Given the description of an element on the screen output the (x, y) to click on. 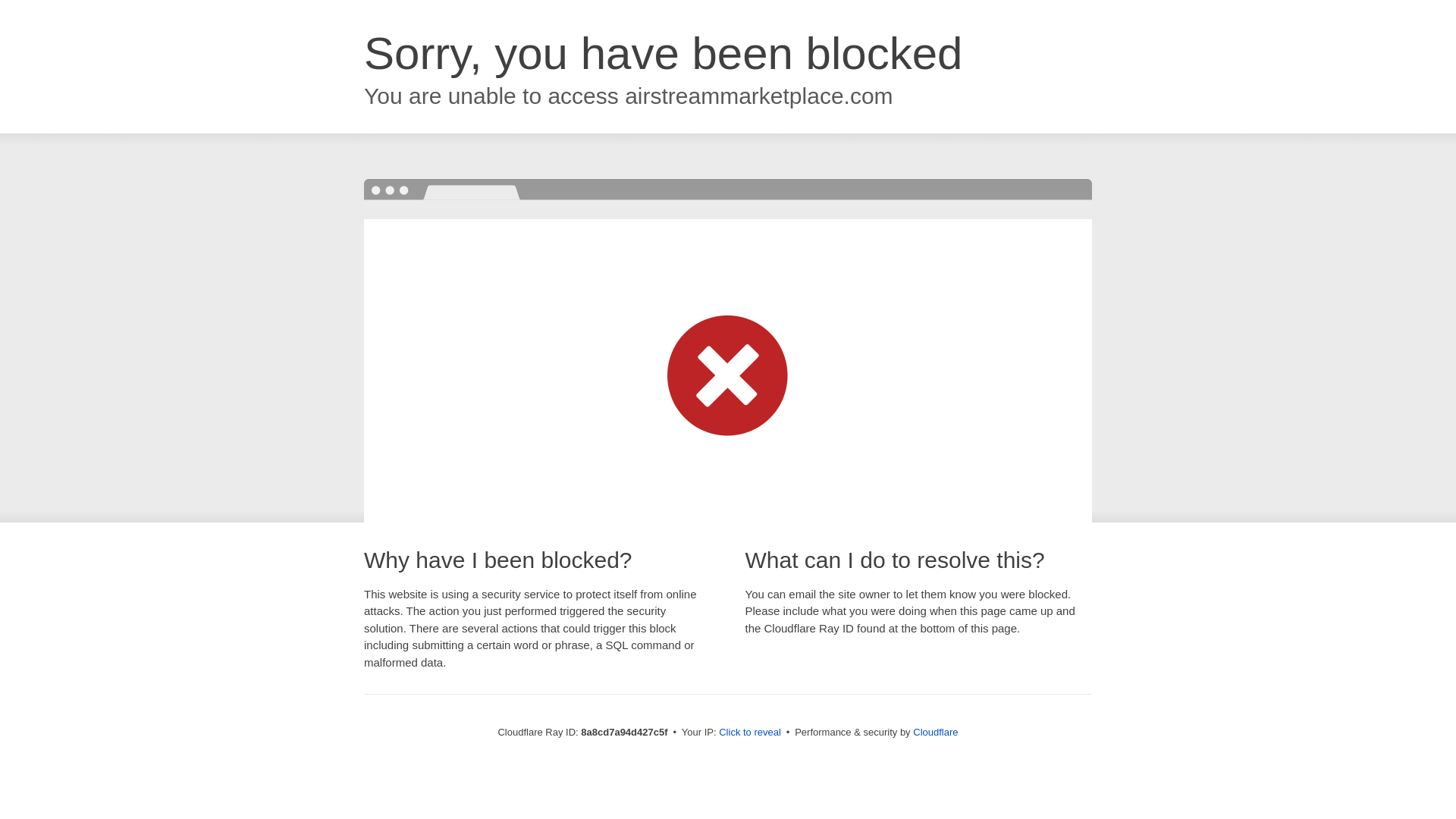
Click to reveal (749, 732)
Cloudflare (935, 731)
